Given the description of an element on the screen output the (x, y) to click on. 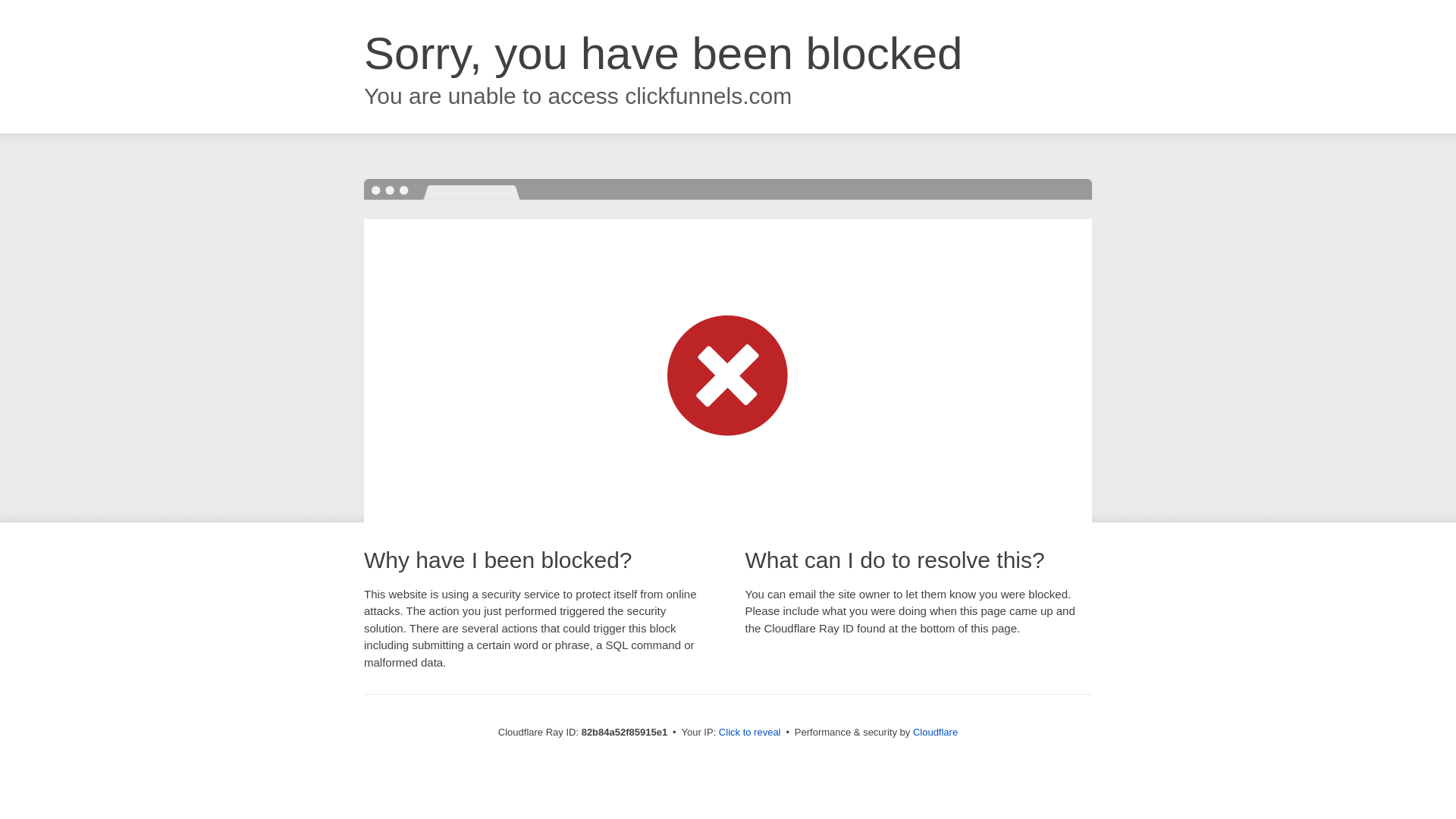
Click to reveal Element type: text (749, 732)
Cloudflare Element type: text (935, 731)
